Given the description of an element on the screen output the (x, y) to click on. 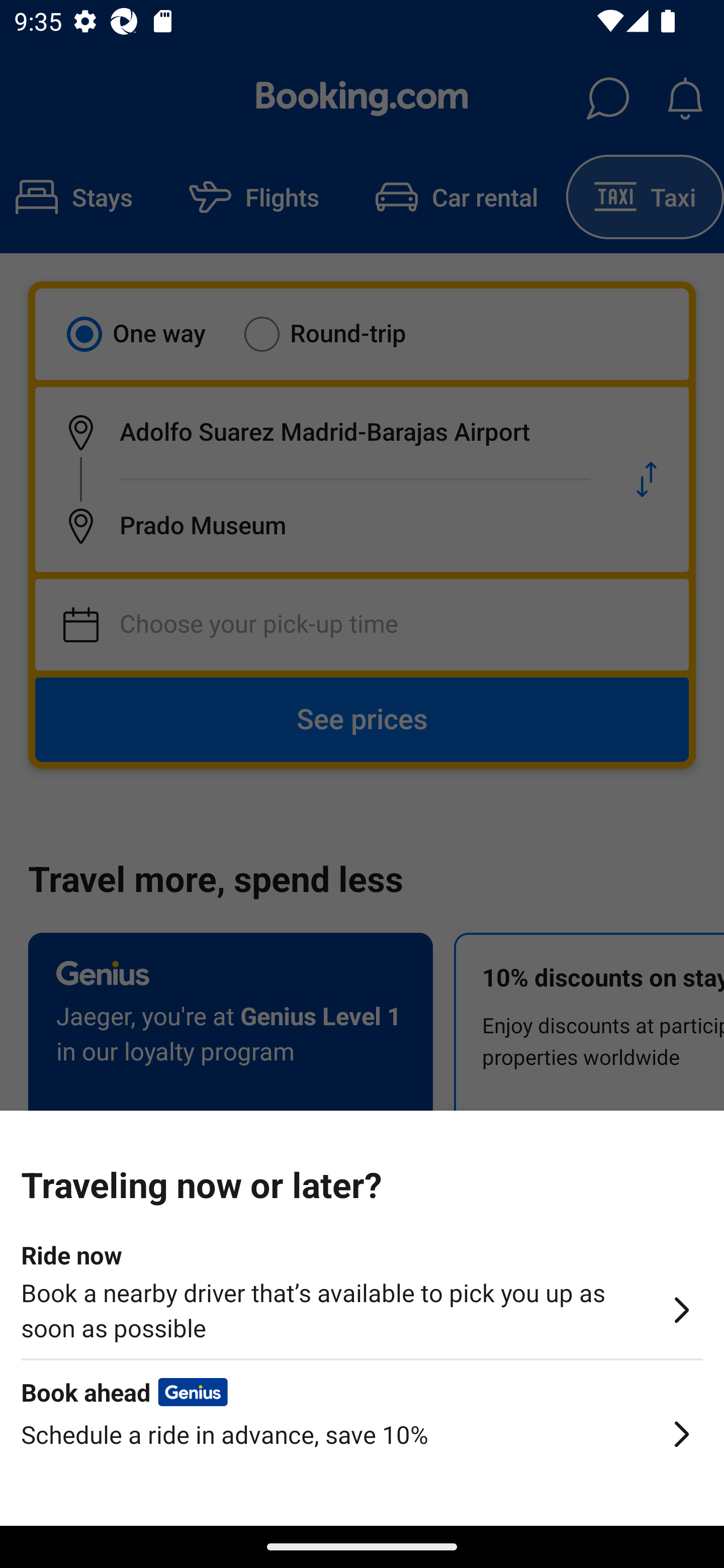
Book ahead Schedule a ride in advance, save 10% (361, 1450)
